Given the description of an element on the screen output the (x, y) to click on. 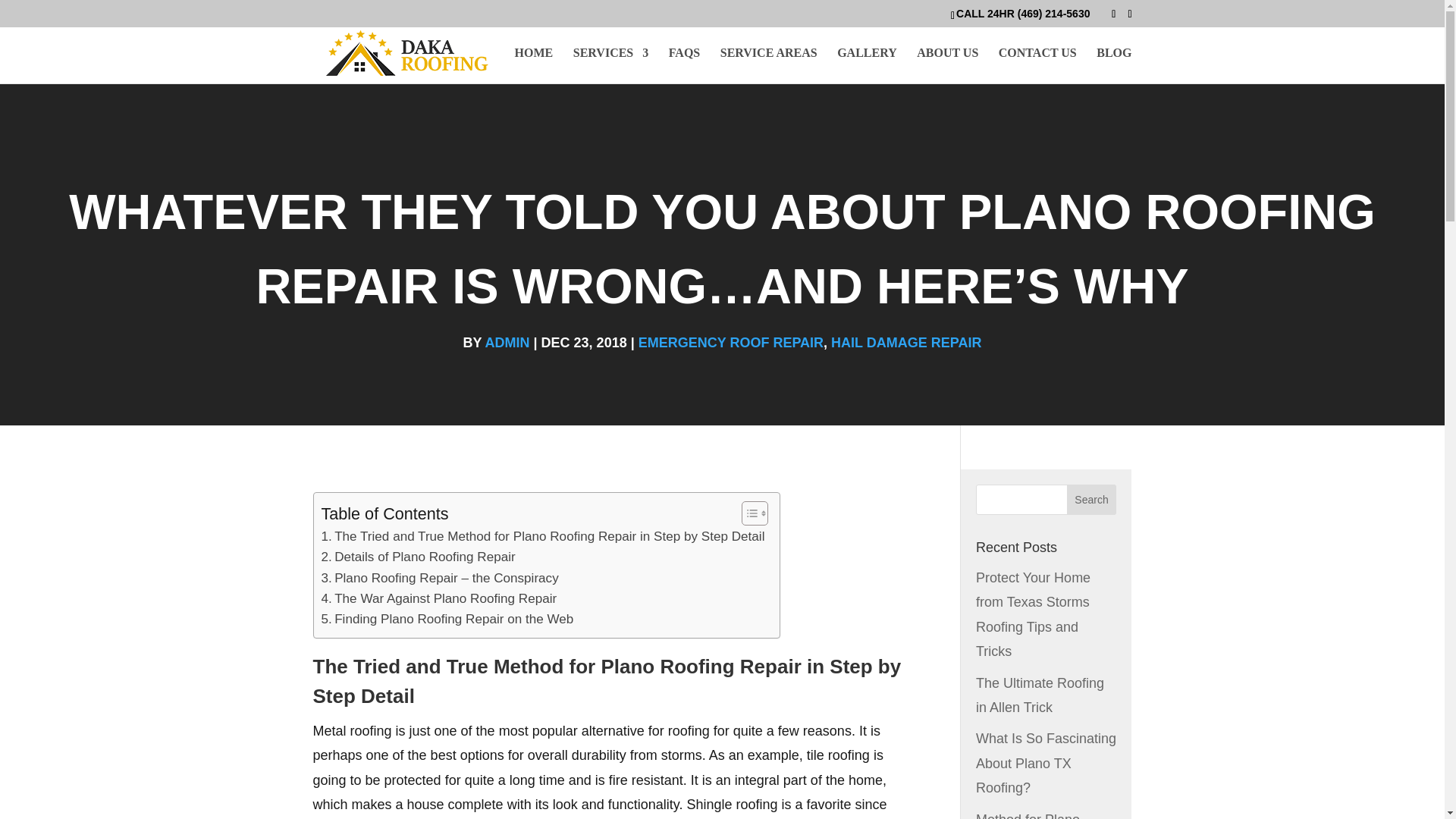
BLOG (1113, 65)
Method for Plano Roofing in Step by Step Detail (1031, 815)
CONTACT US (1037, 65)
ABOUT US (947, 65)
The War Against Plano Roofing Repair (439, 598)
EMERGENCY ROOF REPAIR (731, 342)
Details of Plano Roofing Repair (418, 557)
SERVICE AREAS (768, 65)
Details of Plano Roofing Repair (418, 557)
Search (1091, 499)
GALLERY (866, 65)
ADMIN (506, 342)
What Is So Fascinating About Plano TX Roofing? (1045, 763)
